Given the description of an element on the screen output the (x, y) to click on. 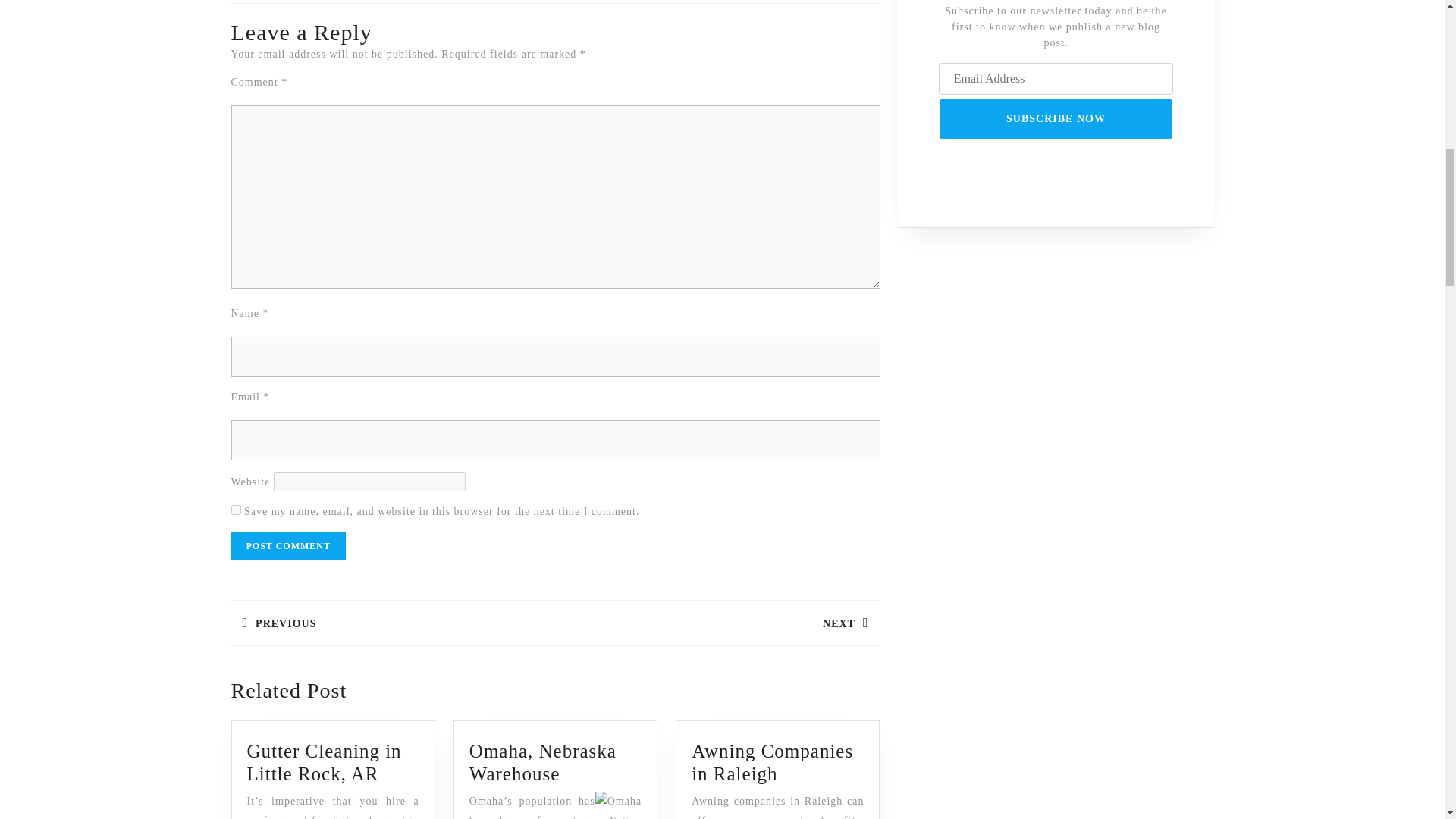
Post Comment (287, 545)
yes (235, 510)
Post Comment (287, 545)
SUBSCRIBE NOW (541, 762)
